Given the description of an element on the screen output the (x, y) to click on. 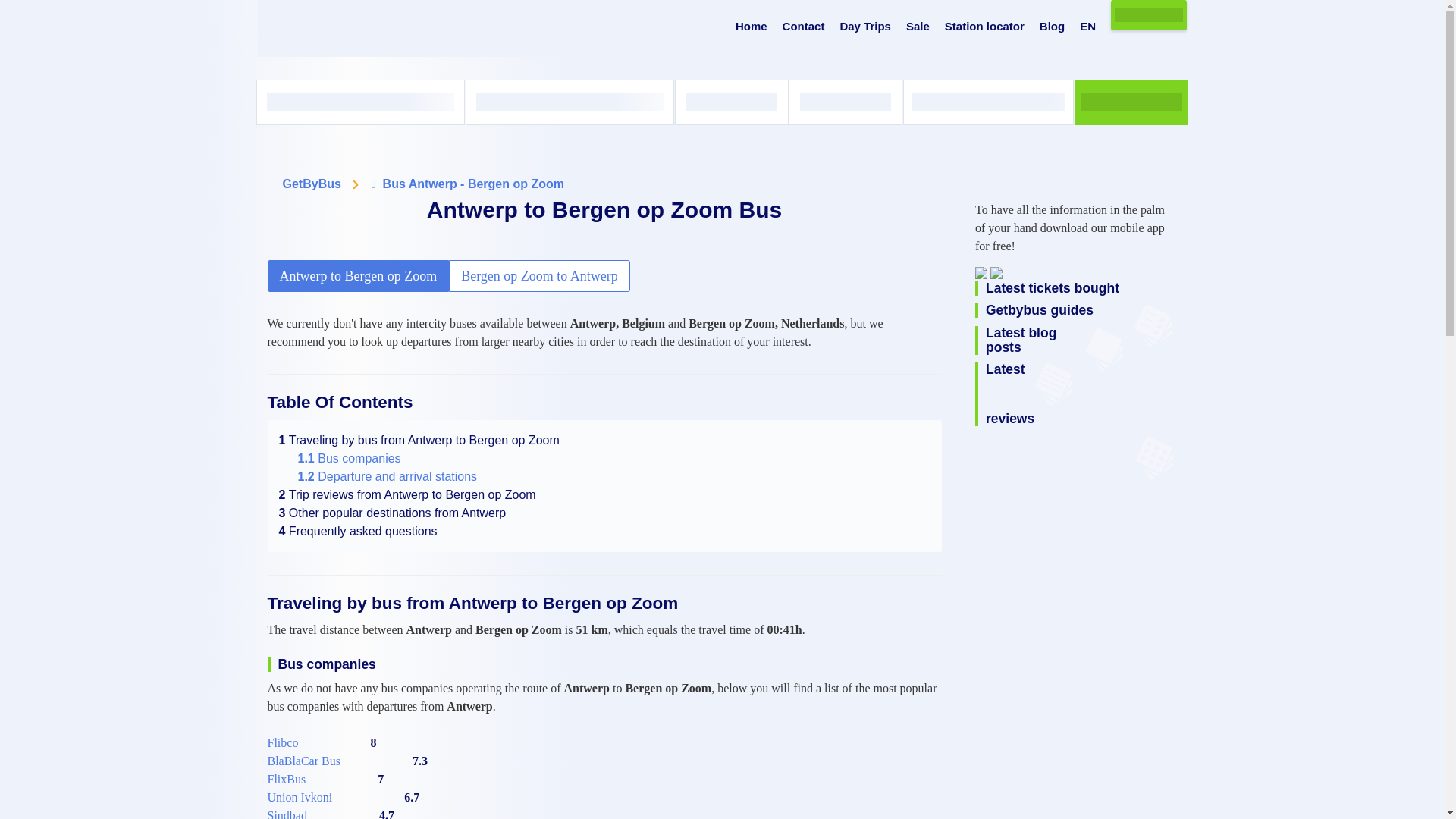
Other popular destinations from Antwerp (392, 512)
 GetByBus (311, 183)
Union Ivkoni (298, 797)
Flibco (282, 742)
Departure and arrival stations (387, 476)
Traveling by bus from Antwerp to Bergen op Zoom (419, 440)
FlixBus (285, 779)
Day Trips (865, 26)
Bergen op Zoom to Antwerp (539, 275)
Bus companies (348, 458)
GetByBus (311, 183)
Station locator (984, 26)
Sindbad (285, 812)
Trip reviews from Antwerp to Bergen op Zoom (407, 494)
Frequently asked questions (358, 530)
